Given the description of an element on the screen output the (x, y) to click on. 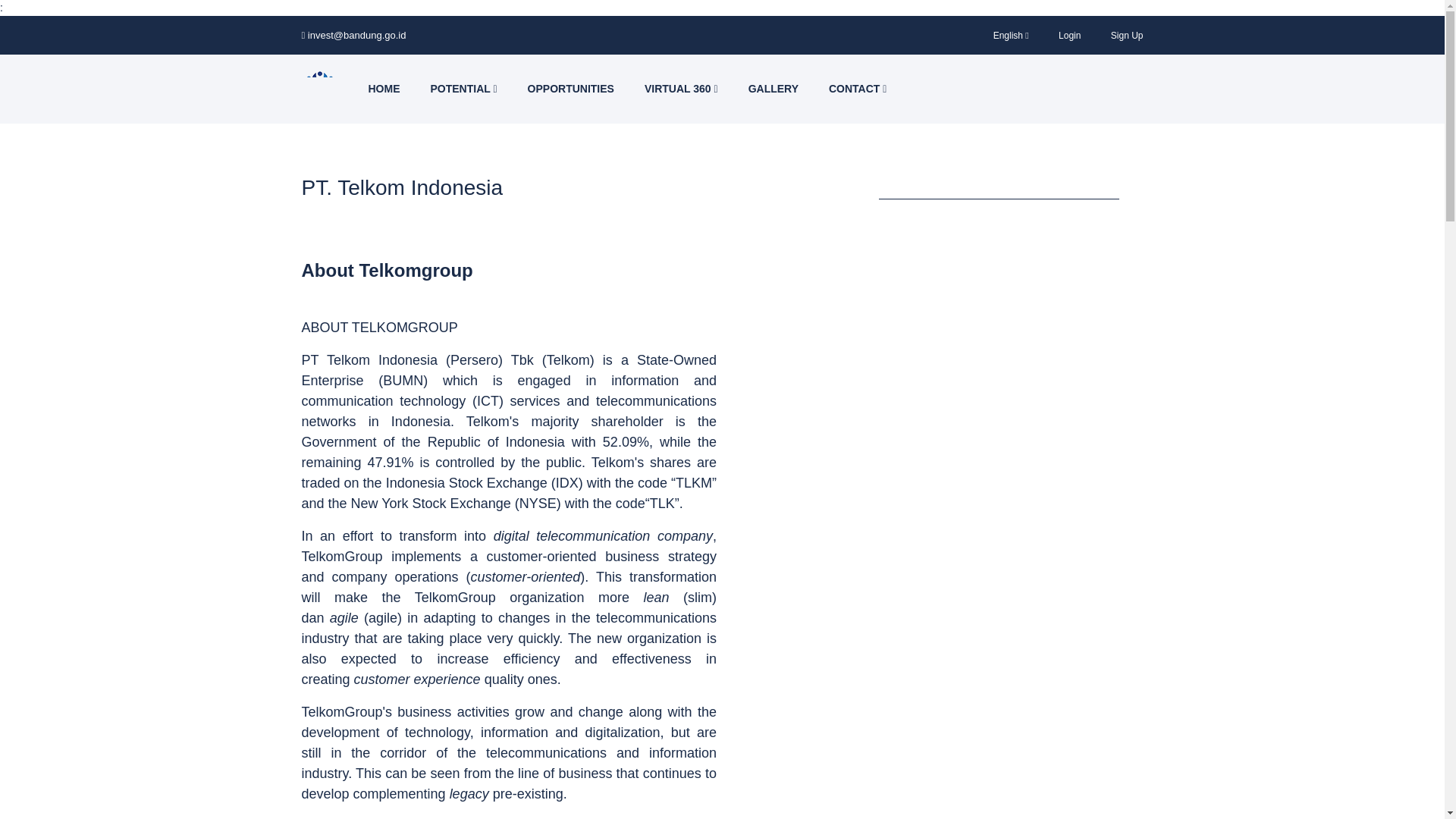
GALLERY (773, 88)
VIRTUAL 360 (680, 88)
CONTACT (857, 88)
Sign Up (1126, 35)
OPPORTUNITIES (570, 88)
HOME (383, 88)
Login (1069, 35)
English (1010, 35)
POTENTIAL (463, 88)
